Given the description of an element on the screen output the (x, y) to click on. 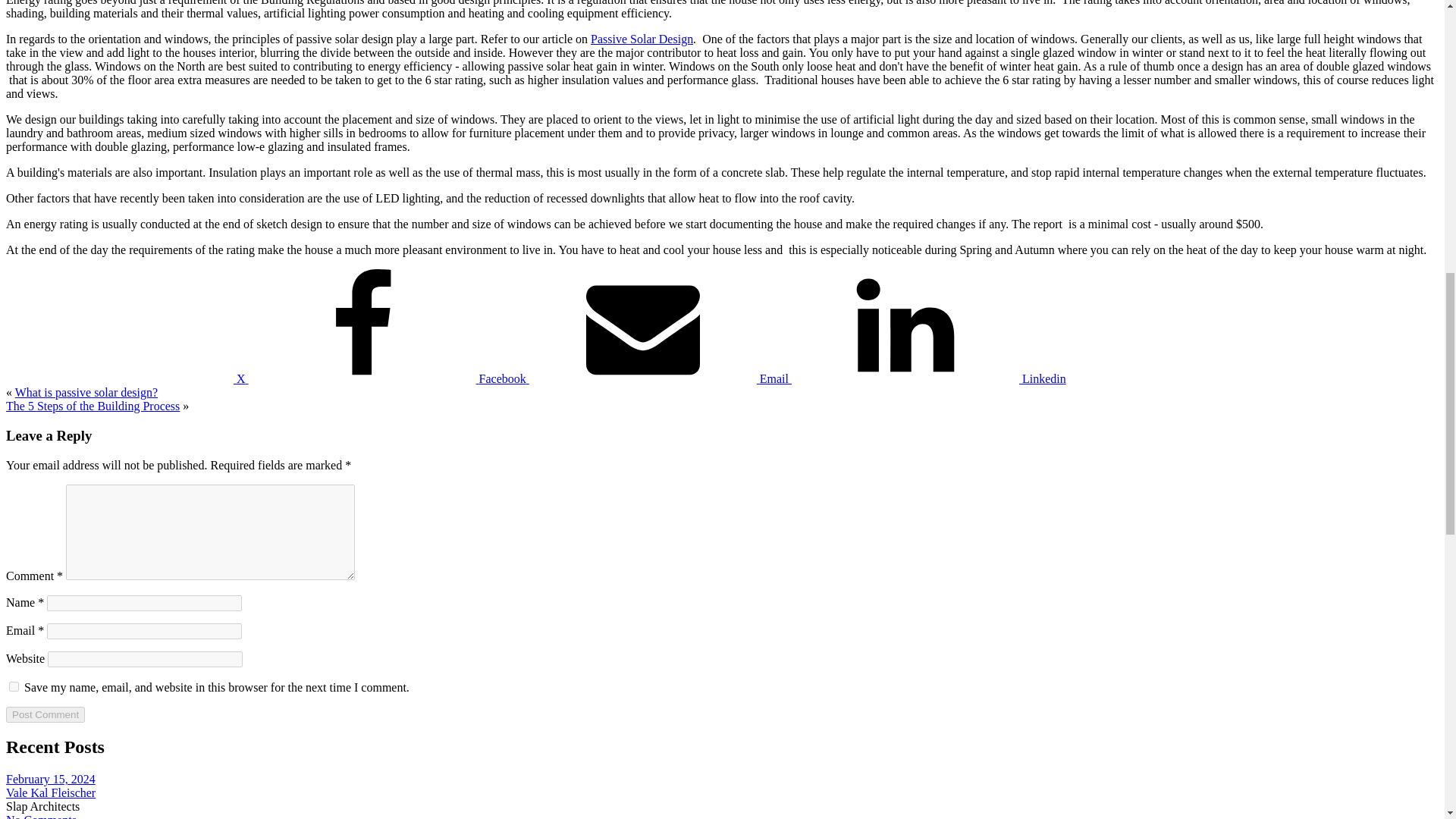
Passive Solar Design (642, 38)
Email (660, 378)
Vale Kal Fleischer (50, 792)
What is passive solar design? (85, 391)
X (126, 378)
Linkedin (928, 378)
Post Comment (44, 714)
yes (13, 685)
No Comments (41, 816)
Post Comment (44, 714)
